Given the description of an element on the screen output the (x, y) to click on. 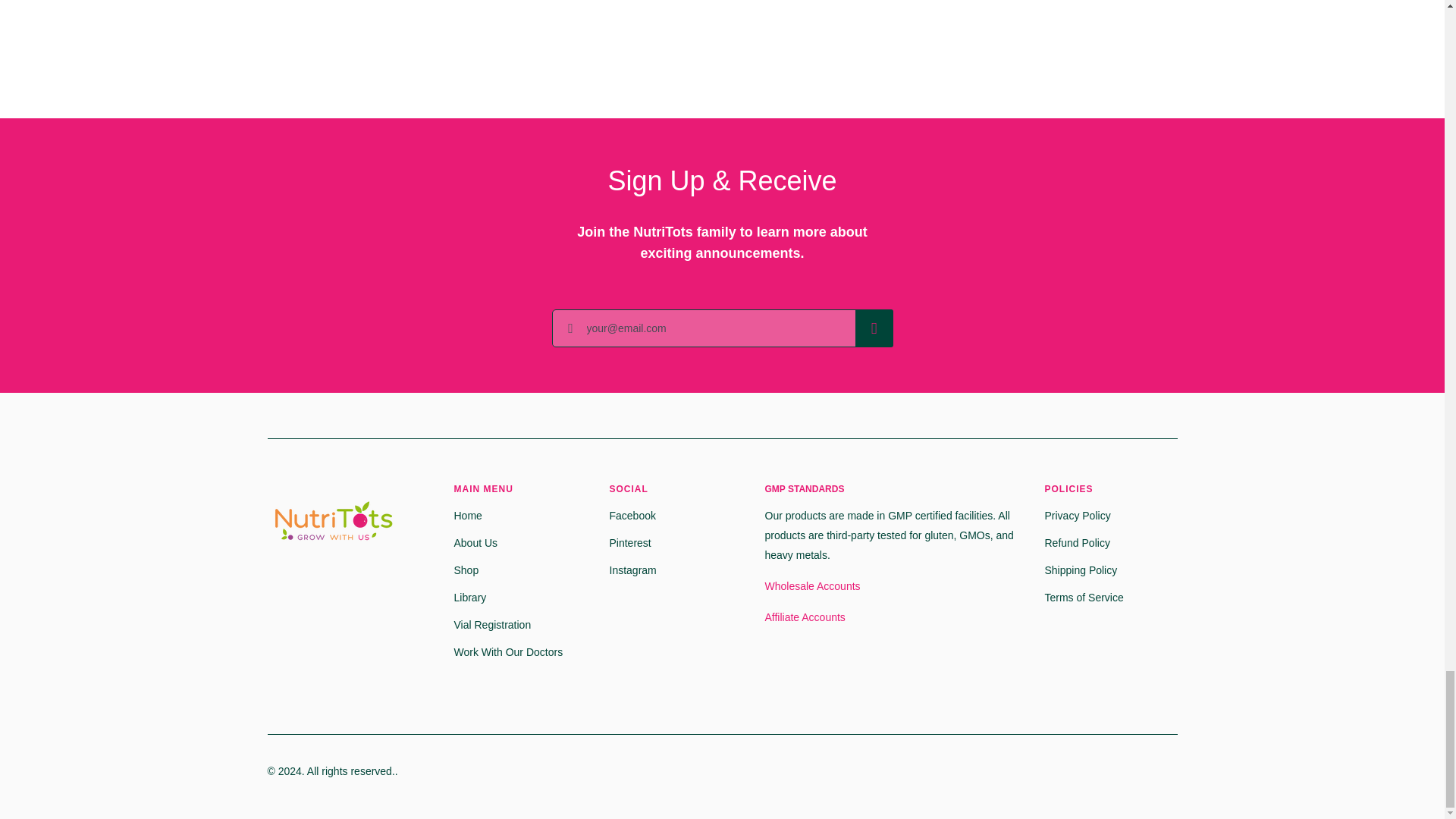
Subscribe (874, 328)
Instagram (633, 569)
Subscribe (874, 328)
Pinterest (630, 542)
Library (469, 597)
About Us (474, 542)
Vial Registration (491, 624)
Shop (465, 569)
Work With Our Doctors (507, 651)
Facebook (633, 515)
